Given the description of an element on the screen output the (x, y) to click on. 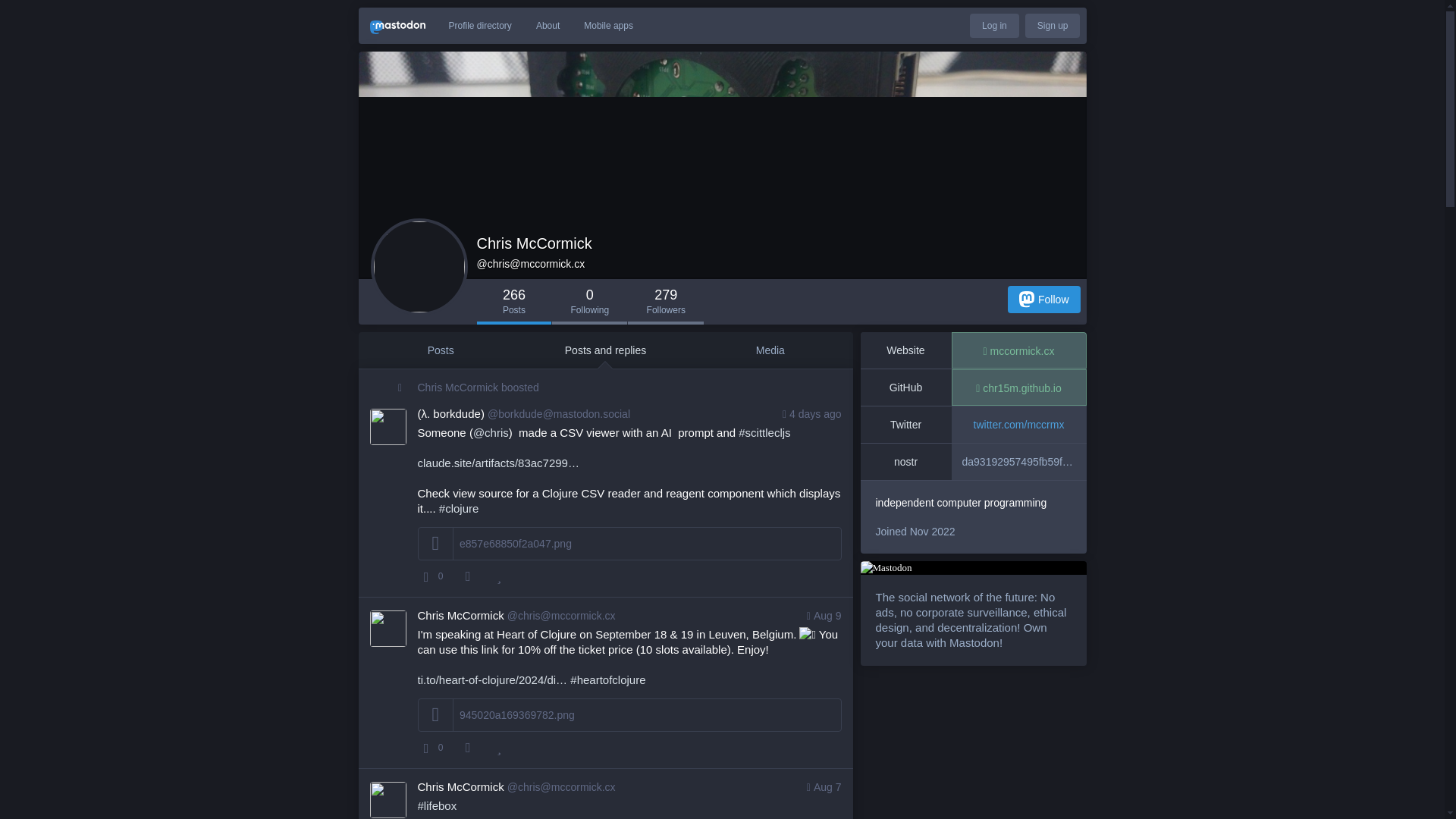
4 days ago (809, 414)
0 (432, 747)
266 (513, 302)
Media (769, 350)
About (548, 25)
Log in (994, 25)
Posts (440, 350)
Aug 9 (822, 616)
0 (589, 302)
Mobile apps (608, 25)
